Given the description of an element on the screen output the (x, y) to click on. 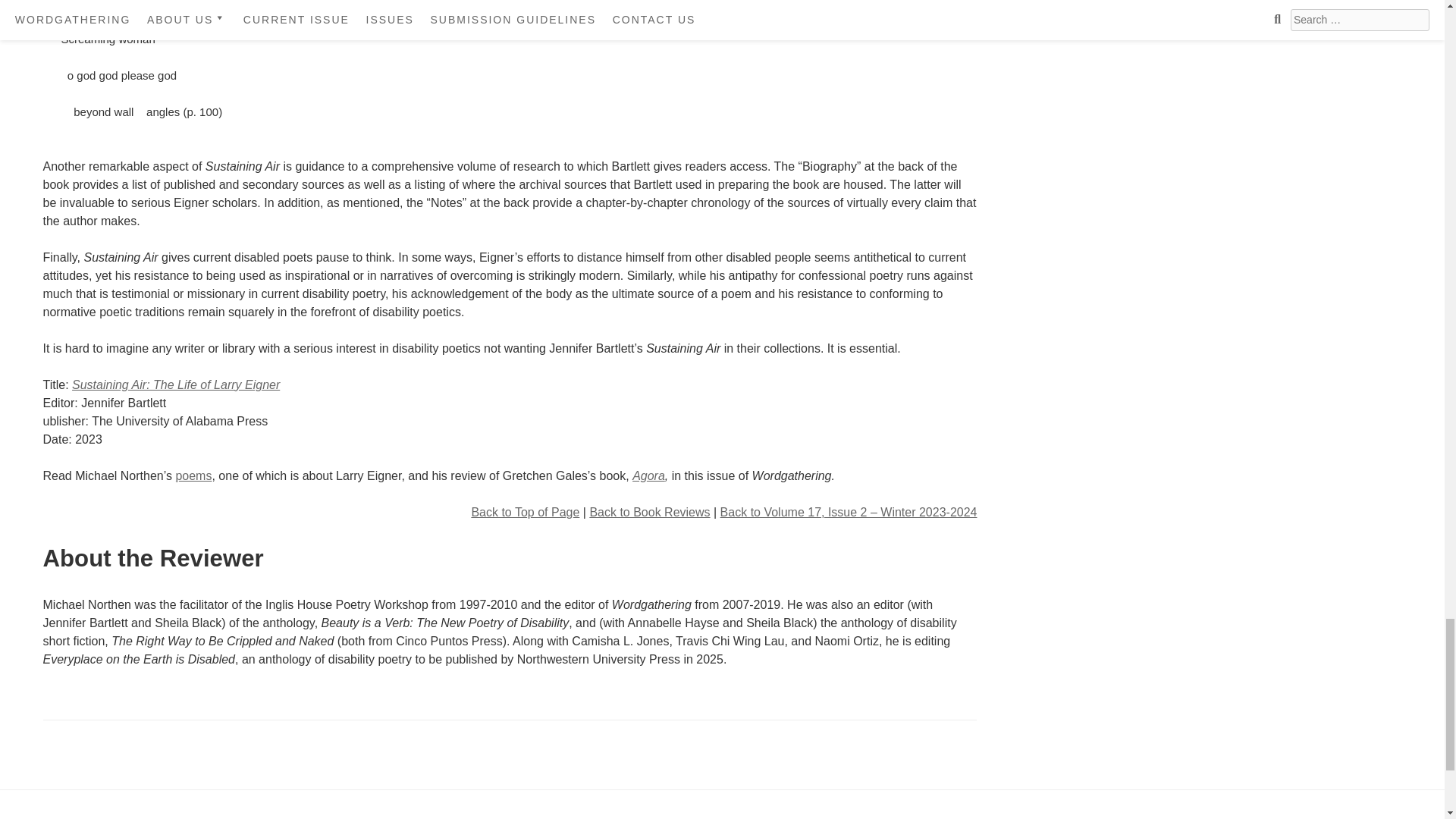
poems (192, 475)
Back to Book Reviews (649, 512)
Agora (648, 475)
Sustaining Air: The Life of Larry Eigner (175, 384)
Back to Top of Page (524, 512)
